Given the description of an element on the screen output the (x, y) to click on. 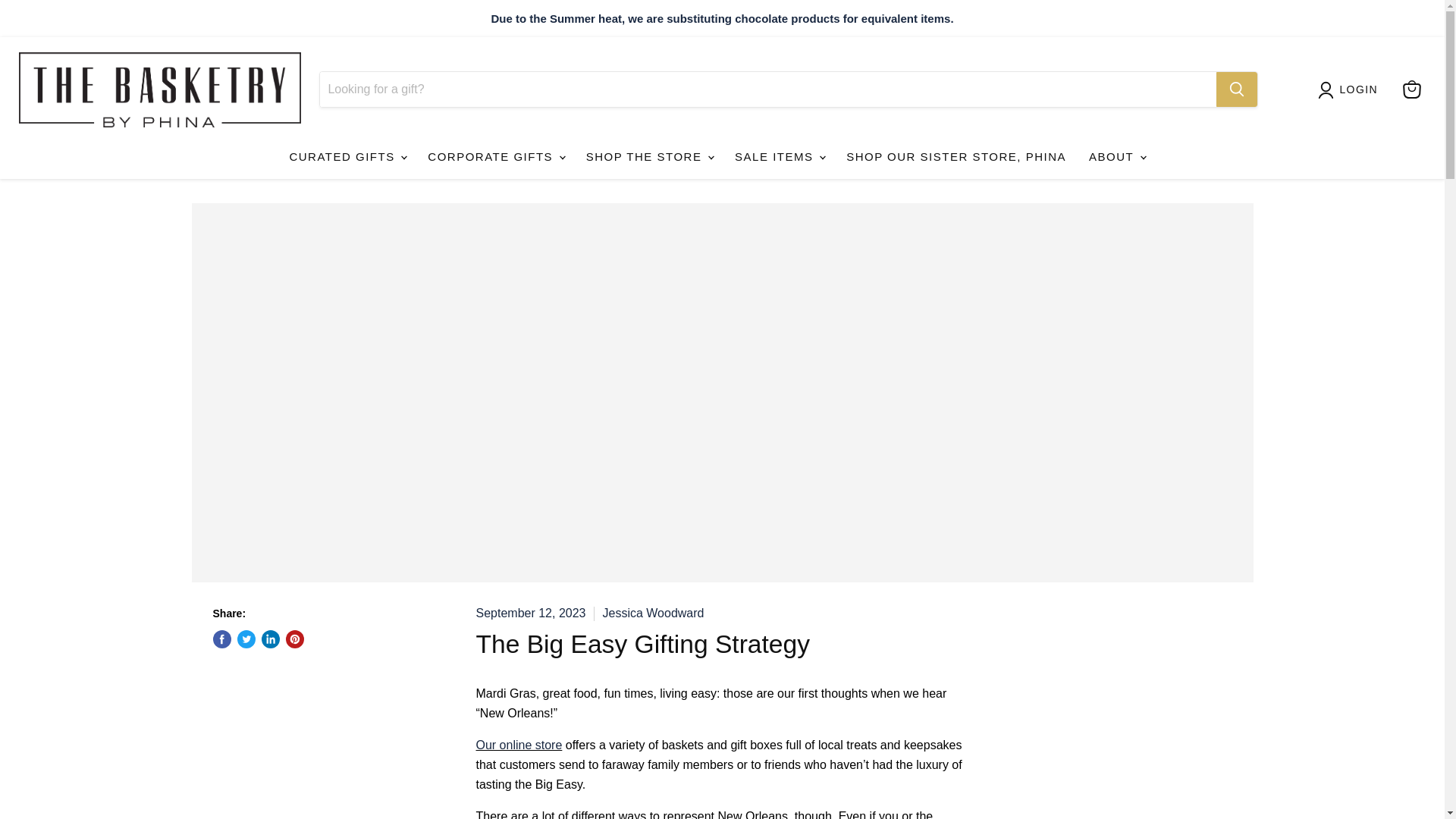
CORPORATE GIFTS (494, 156)
View cart (1411, 89)
SHOP THE STORE (649, 156)
LOGIN (1358, 89)
CURATED GIFTS (347, 156)
